Given the description of an element on the screen output the (x, y) to click on. 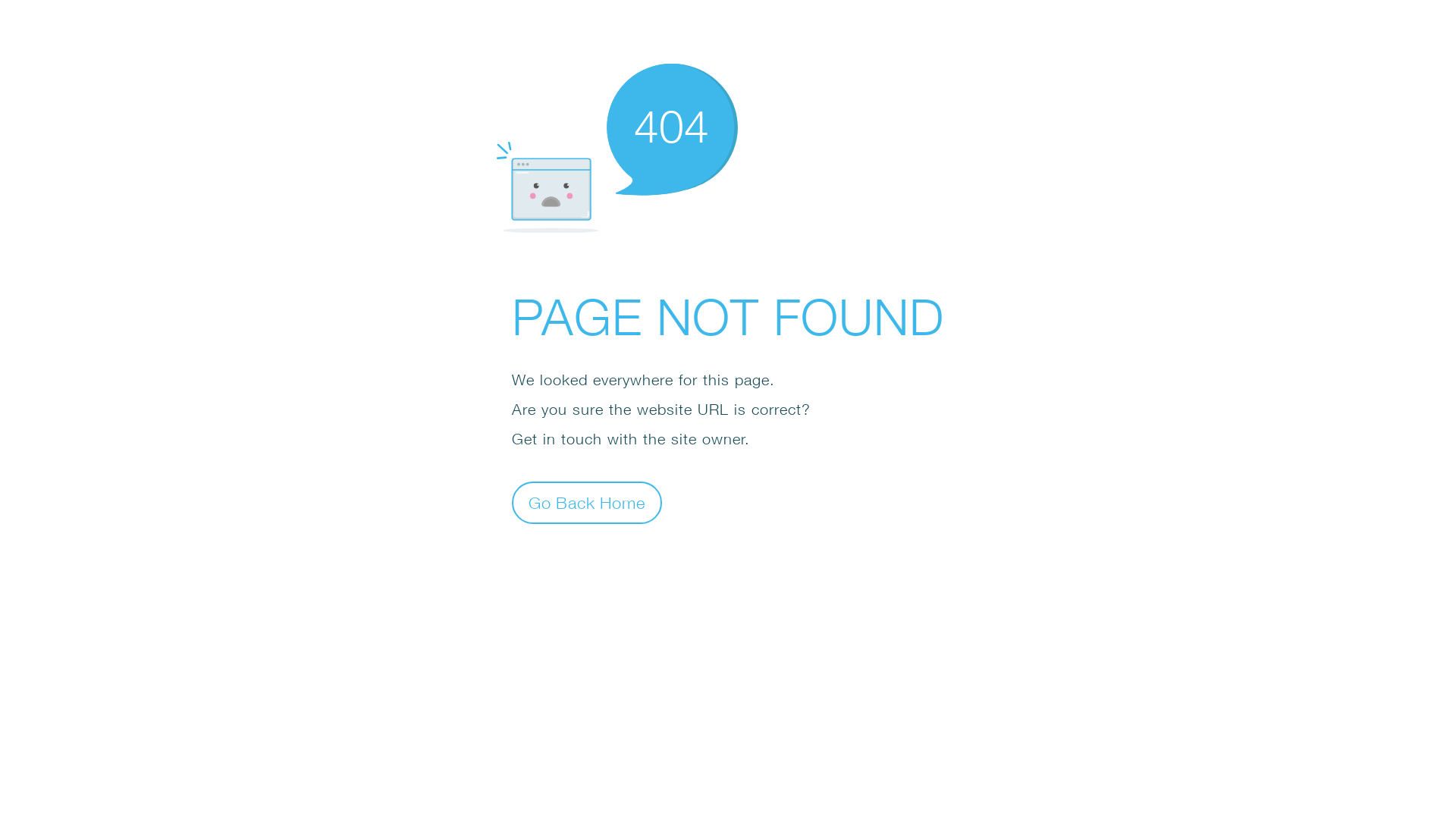
Go Back Home Element type: text (586, 502)
